Given the description of an element on the screen output the (x, y) to click on. 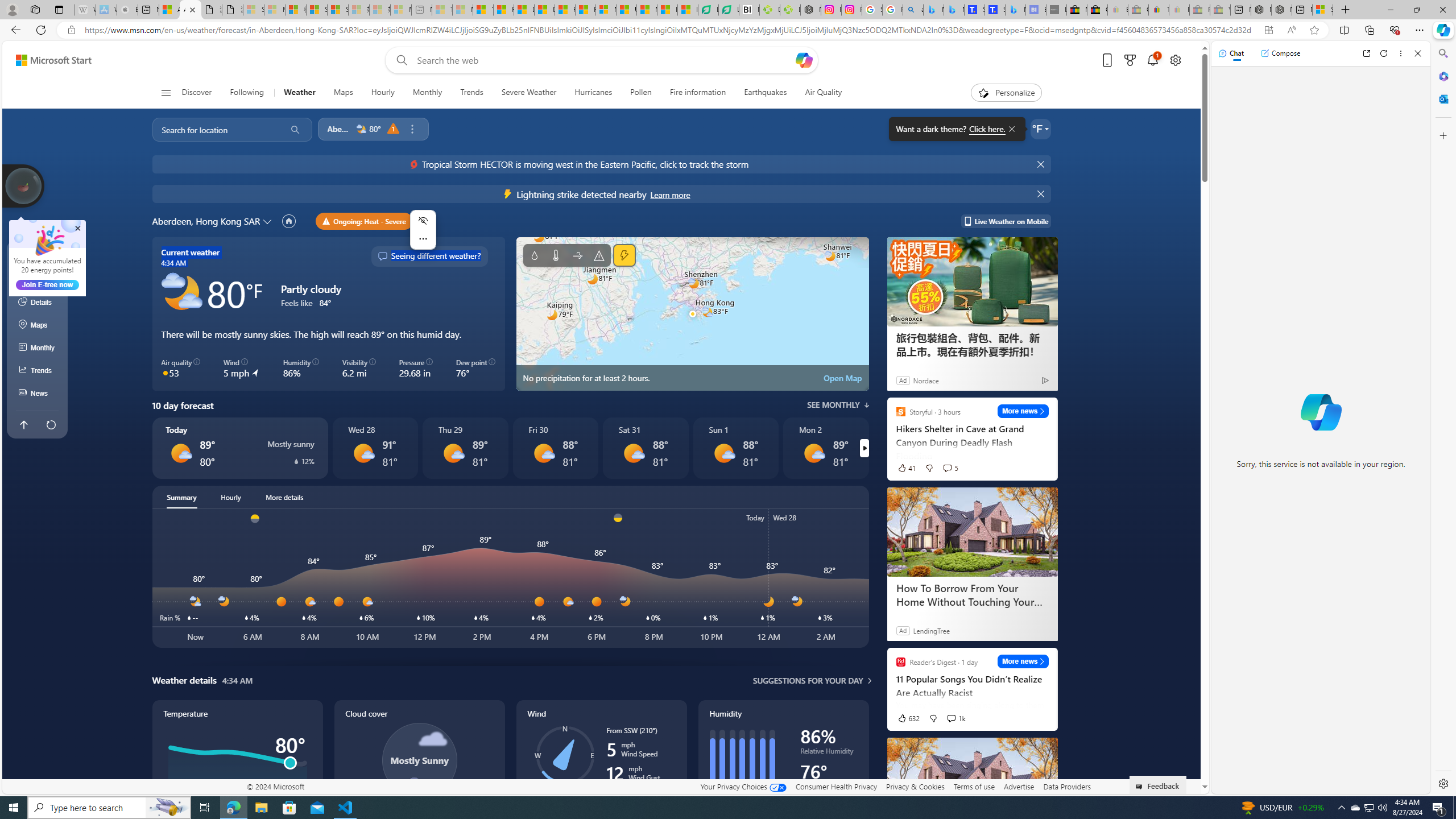
Weather settings Want a dark theme?Click here. (1040, 128)
Monthly (427, 92)
Aberdeen (338, 129)
Earthquakes (765, 92)
Class: feedback_link_icon-DS-EntryPoint1-1 (1140, 786)
Earthquakes (765, 92)
App available. Install Microsoft Start Weather (1268, 29)
